Given the description of an element on the screen output the (x, y) to click on. 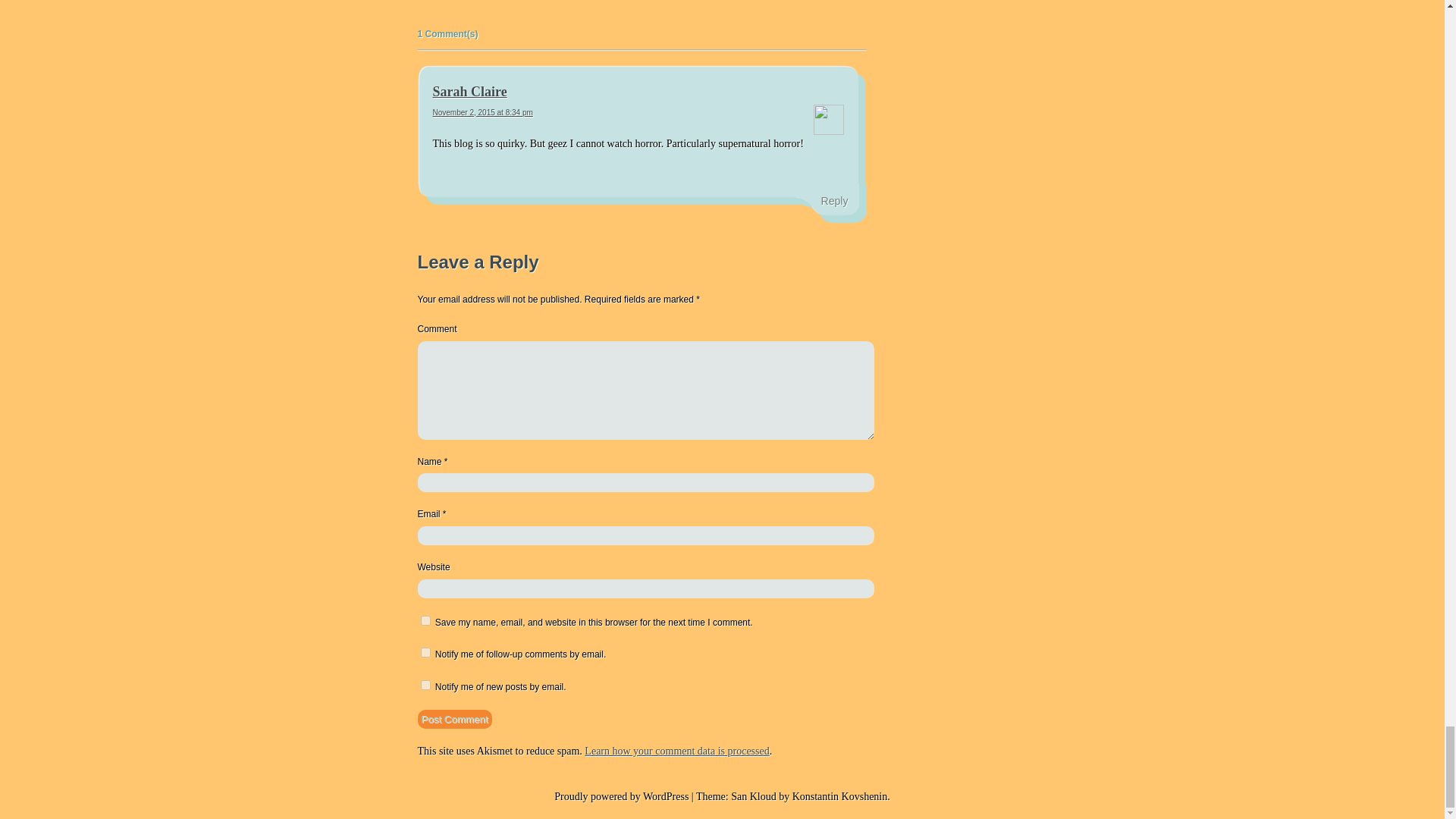
Post Comment (454, 719)
subscribe (424, 685)
yes (424, 620)
subscribe (424, 652)
